Given the description of an element on the screen output the (x, y) to click on. 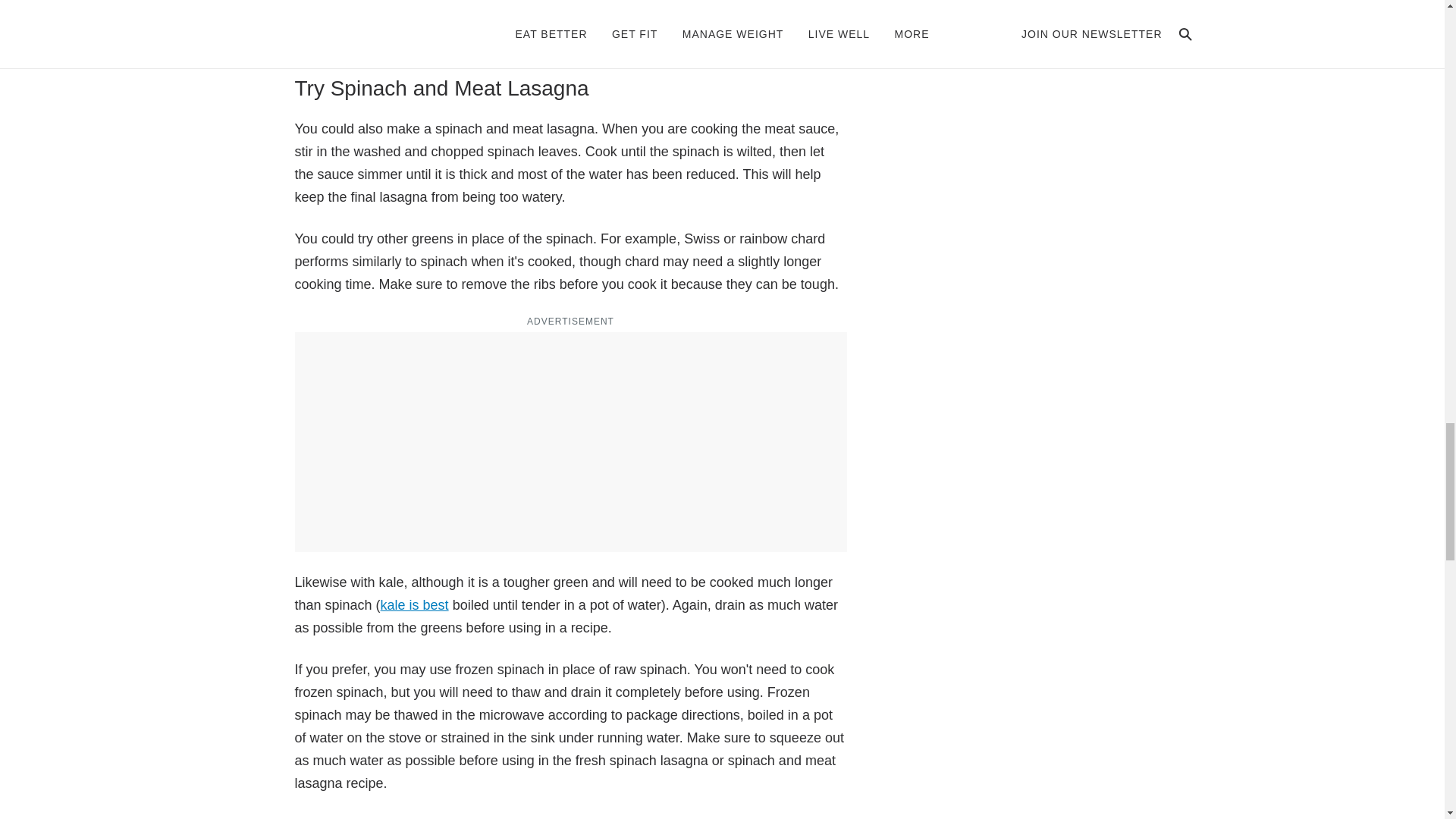
kale is best (414, 604)
